Given the description of an element on the screen output the (x, y) to click on. 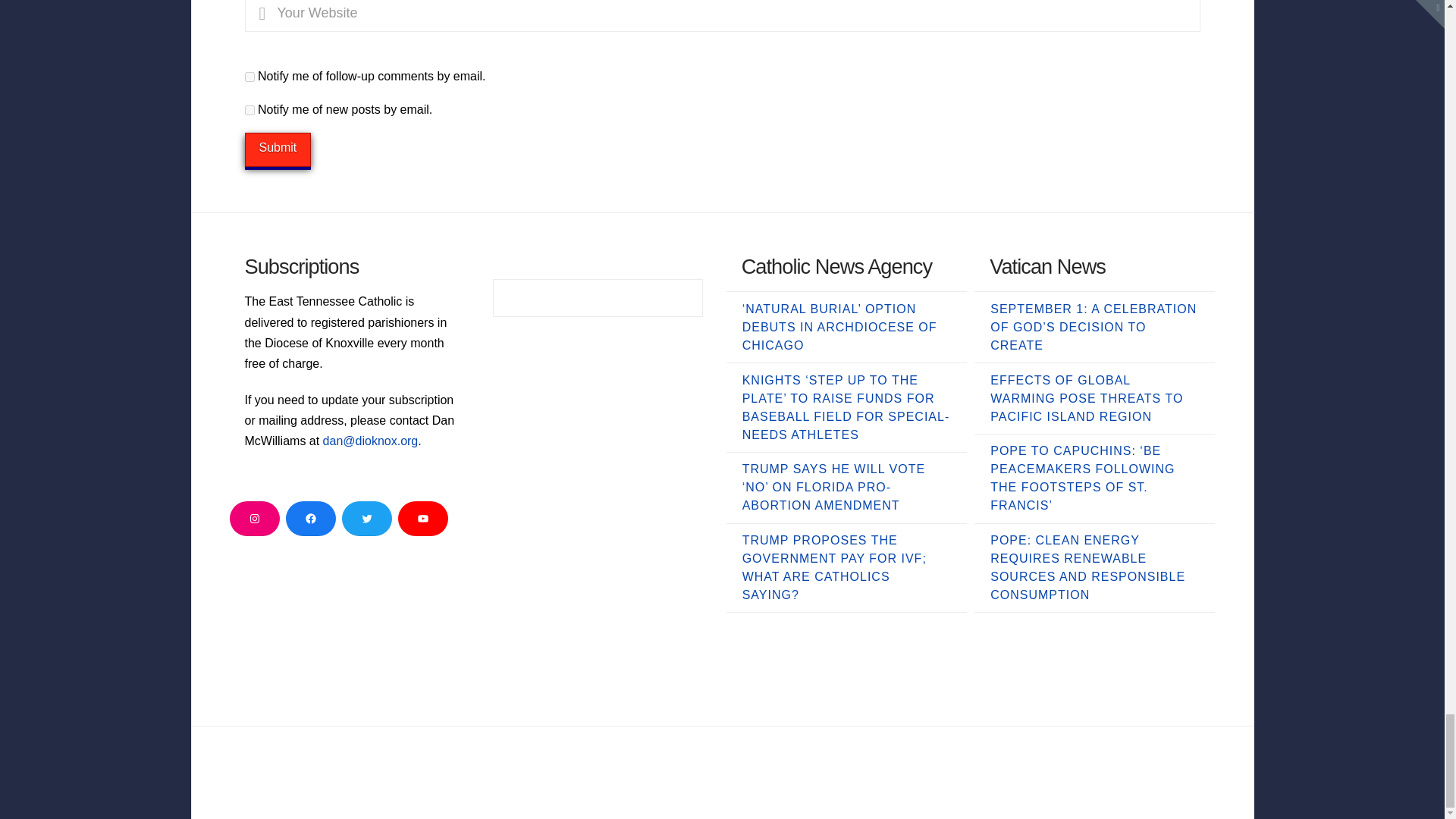
subscribe (248, 76)
subscribe (248, 110)
Submit (277, 149)
